Given the description of an element on the screen output the (x, y) to click on. 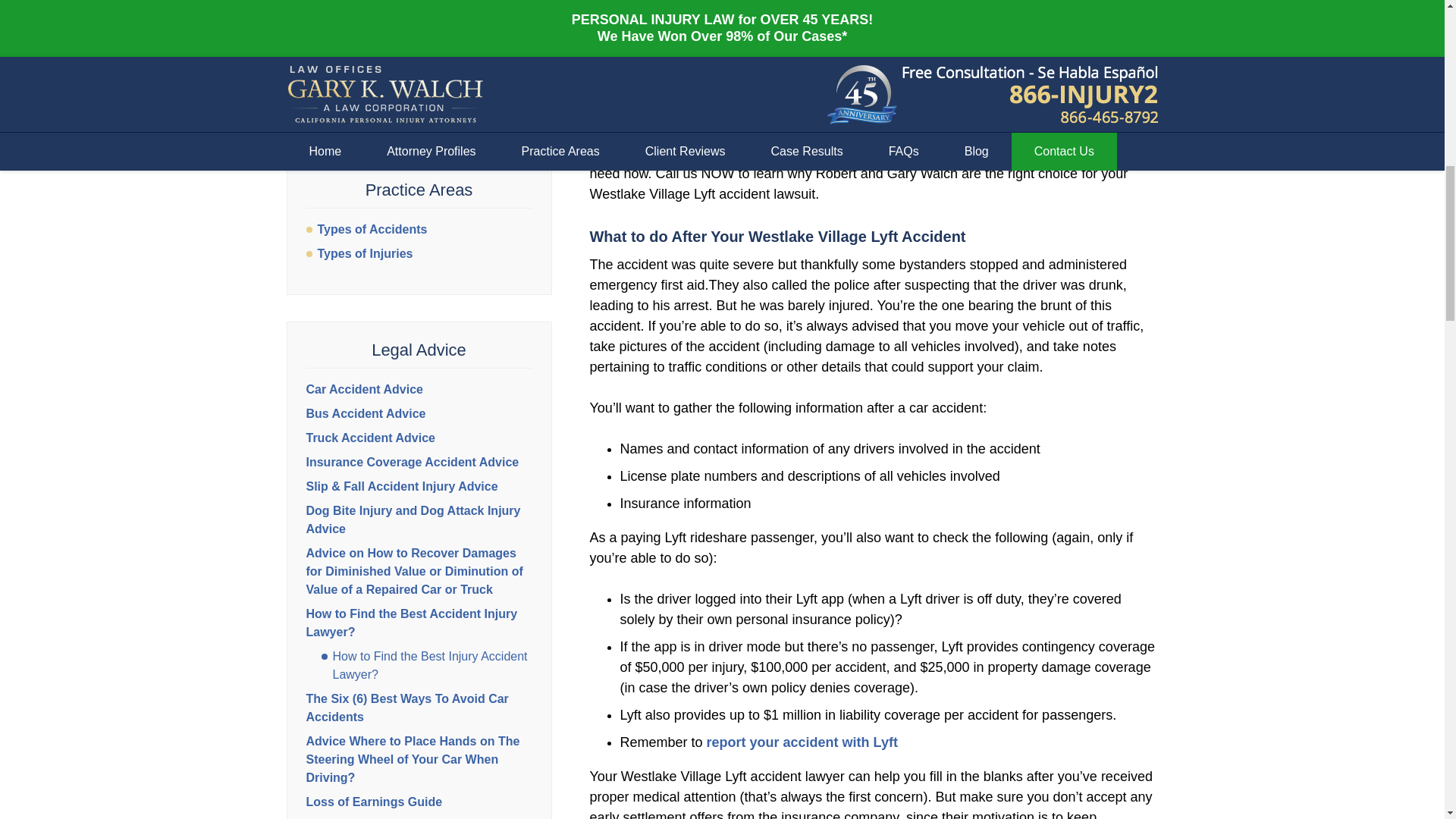
Types of Injuries (418, 253)
Car Accident Advice (364, 389)
Legal Advice (418, 349)
Types of Accidents (418, 229)
Truck Accident Advice (370, 437)
Bus Accident Advice (365, 413)
CONTACT US NOW (418, 96)
Practice Areas (419, 189)
report your accident with Lyft (802, 742)
